Given the description of an element on the screen output the (x, y) to click on. 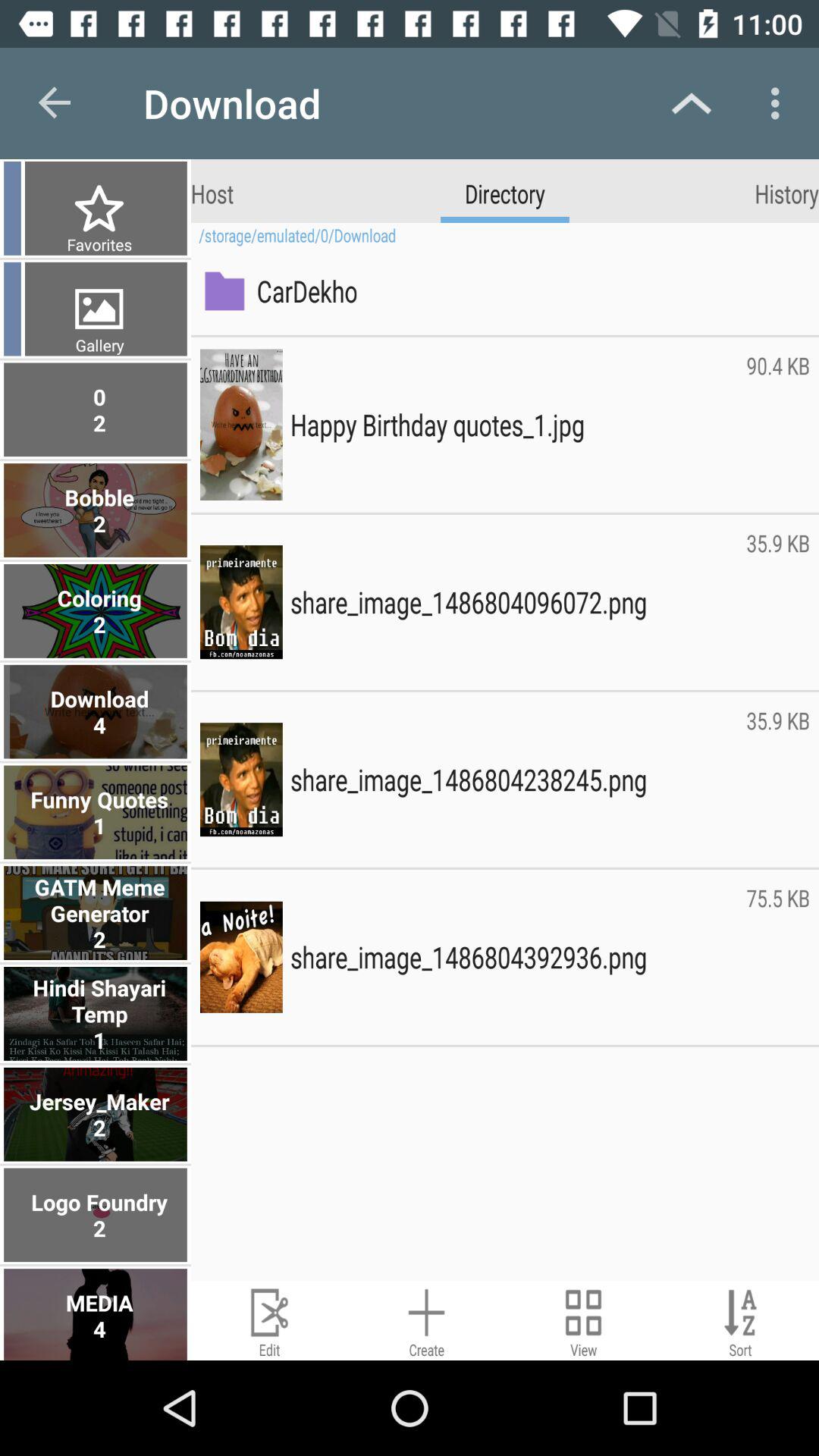
swipe until happy birthday quotes_1 (514, 424)
